Given the description of an element on the screen output the (x, y) to click on. 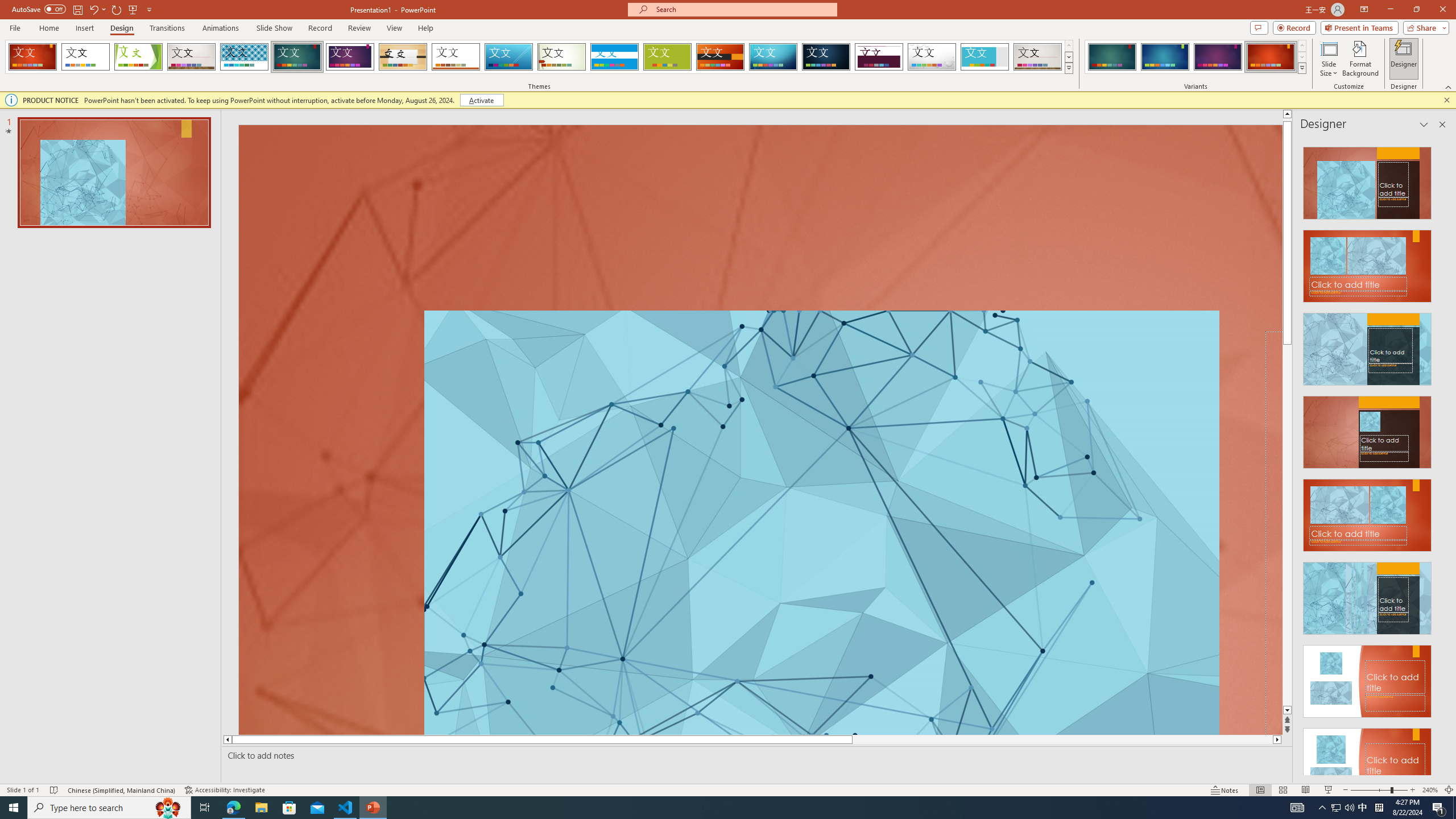
Close this message (1446, 99)
Design Idea (1366, 760)
Themes (1068, 67)
An abstract genetic concept (760, 429)
Ion Boardroom (350, 56)
